Given the description of an element on the screen output the (x, y) to click on. 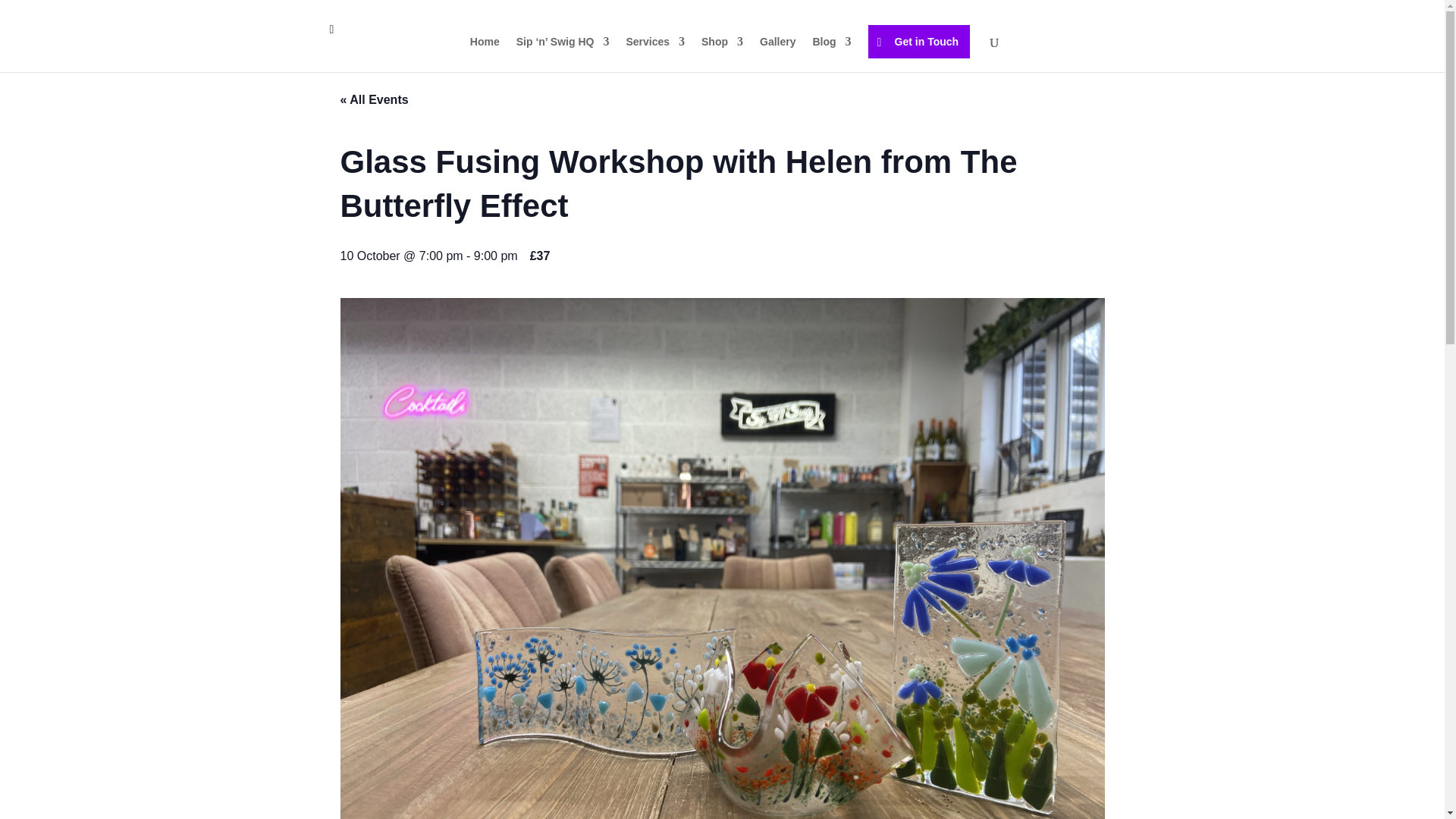
Shop (721, 54)
Blog (831, 54)
Services (655, 54)
Get in Touch (919, 41)
Gallery (777, 54)
